Given the description of an element on the screen output the (x, y) to click on. 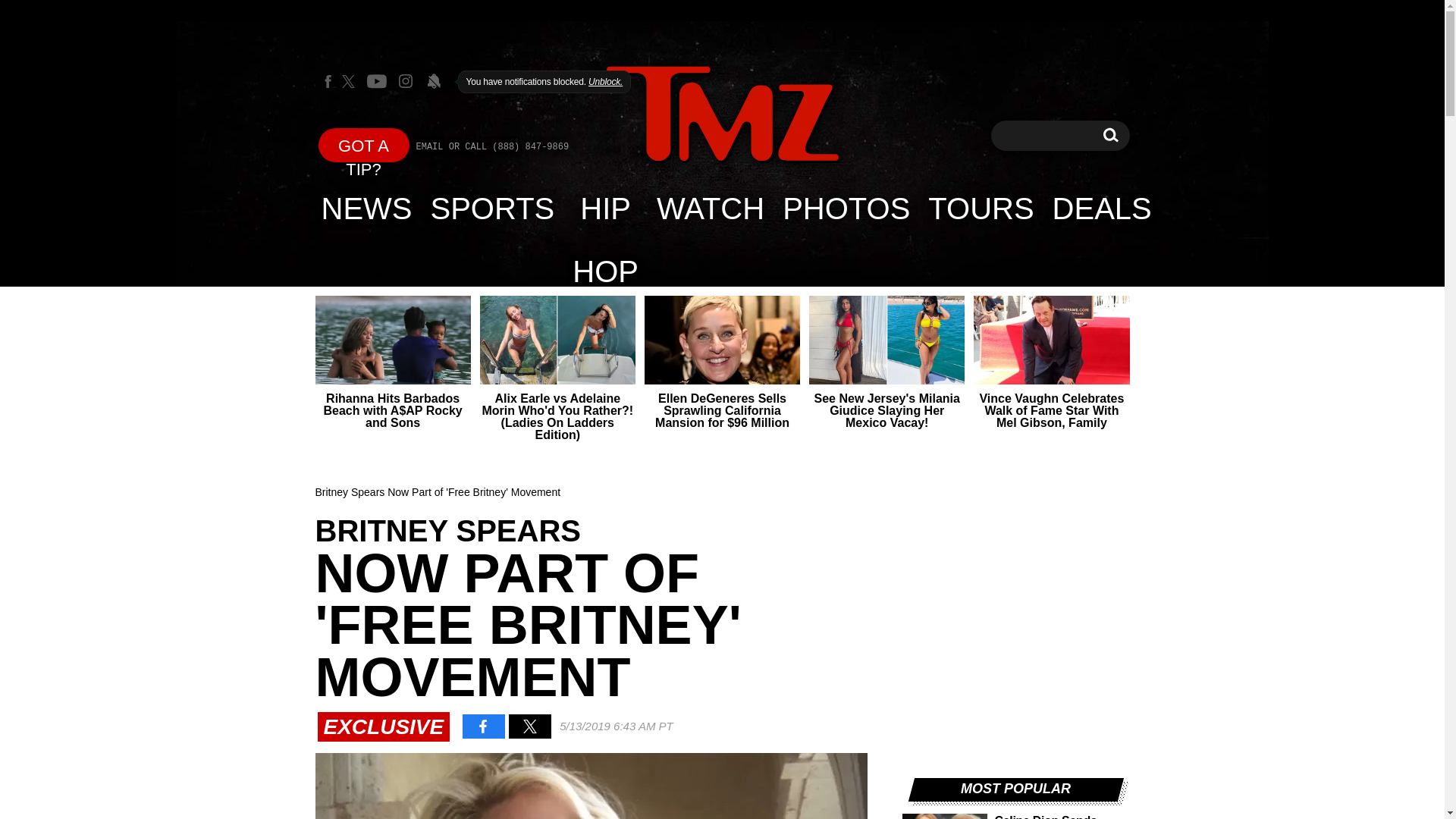
HIP HOP (605, 207)
GOT A TIP? (363, 144)
SPORTS (1110, 135)
DEALS (493, 207)
PHOTOS (1101, 207)
WATCH (845, 207)
NEWS (710, 207)
TMZ (367, 207)
Search (722, 113)
